Given the description of an element on the screen output the (x, y) to click on. 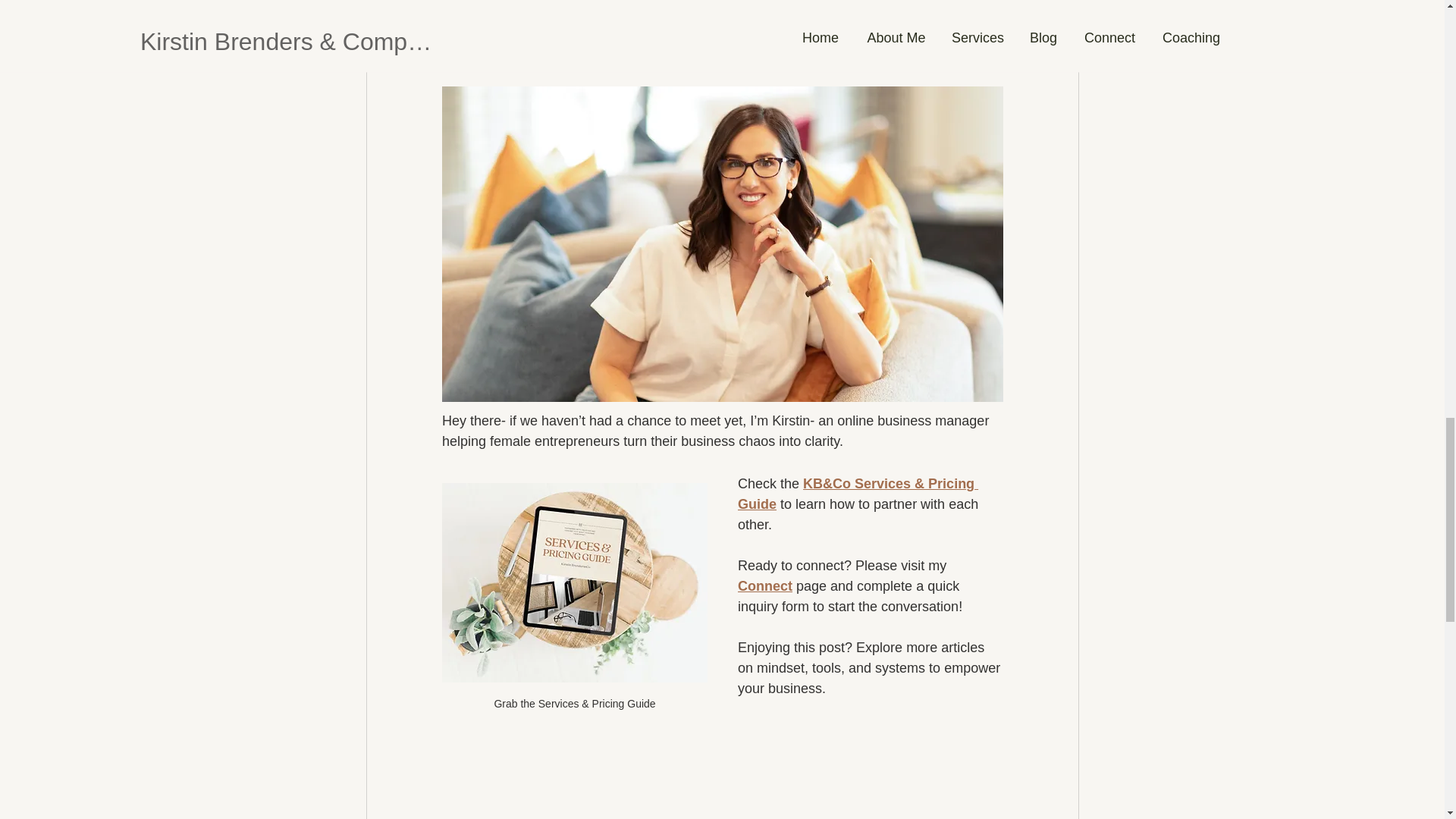
Connect (764, 585)
